Given the description of an element on the screen output the (x, y) to click on. 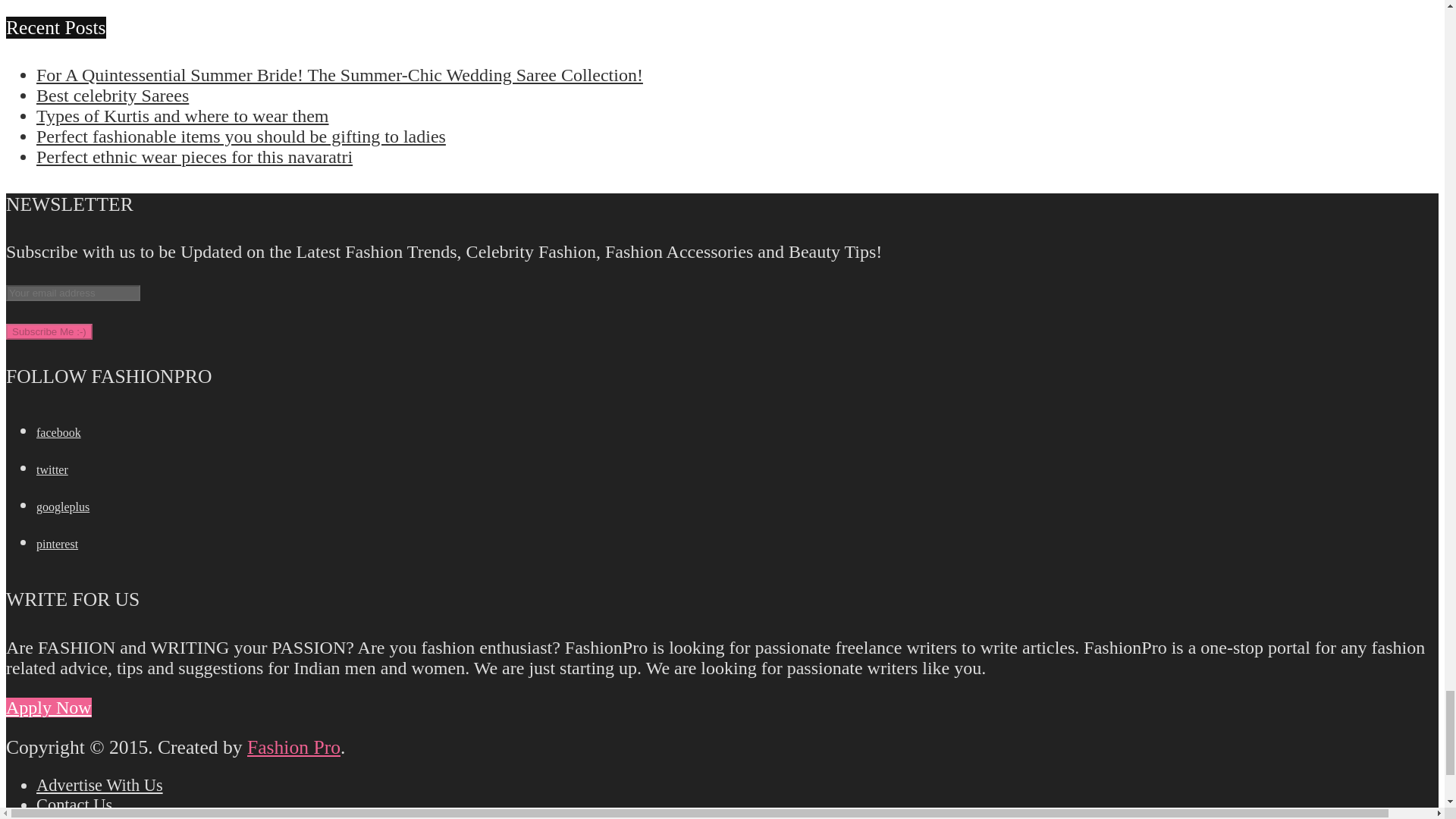
Facebook (58, 431)
Pinterest (57, 543)
